Given the description of an element on the screen output the (x, y) to click on. 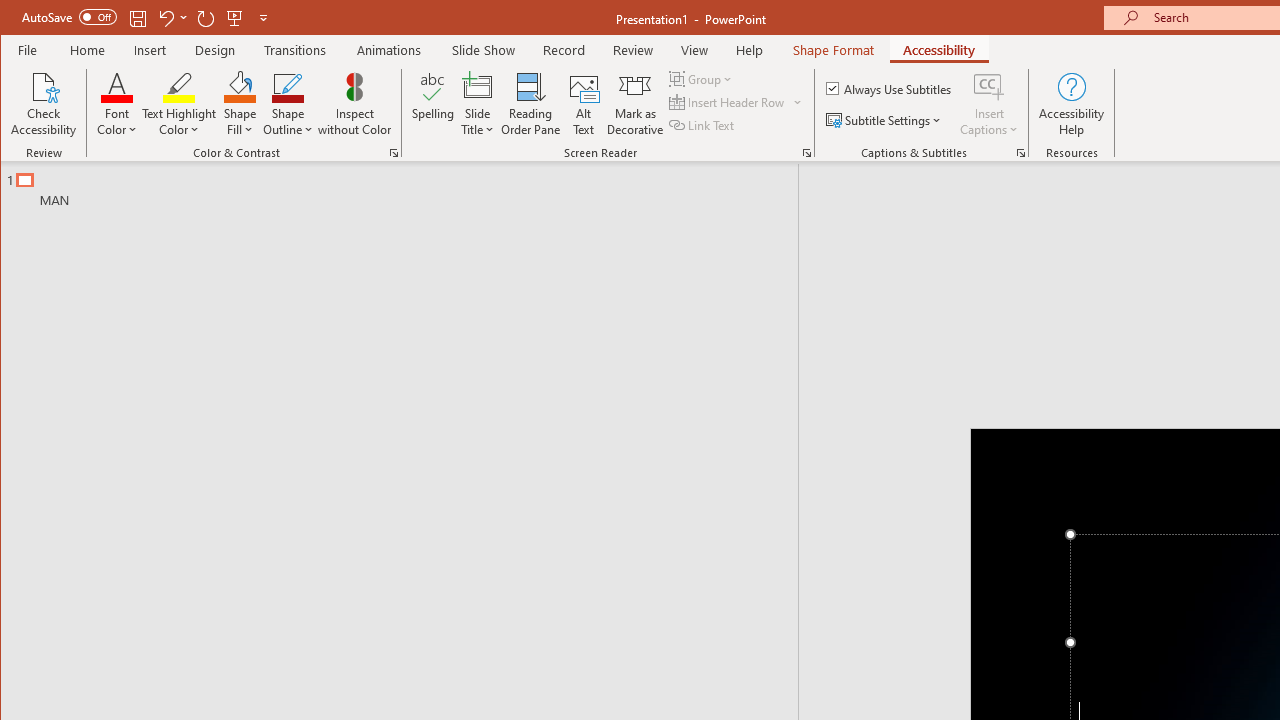
Color & Contrast (393, 152)
Text Highlight Color Yellow (178, 86)
Spelling... (432, 104)
Font Color Red (116, 86)
Outline (408, 185)
Insert Captions (989, 104)
Always Use Subtitles (890, 88)
Insert Captions (989, 86)
Mark as Decorative (635, 104)
Reading Order Pane (531, 104)
